Given the description of an element on the screen output the (x, y) to click on. 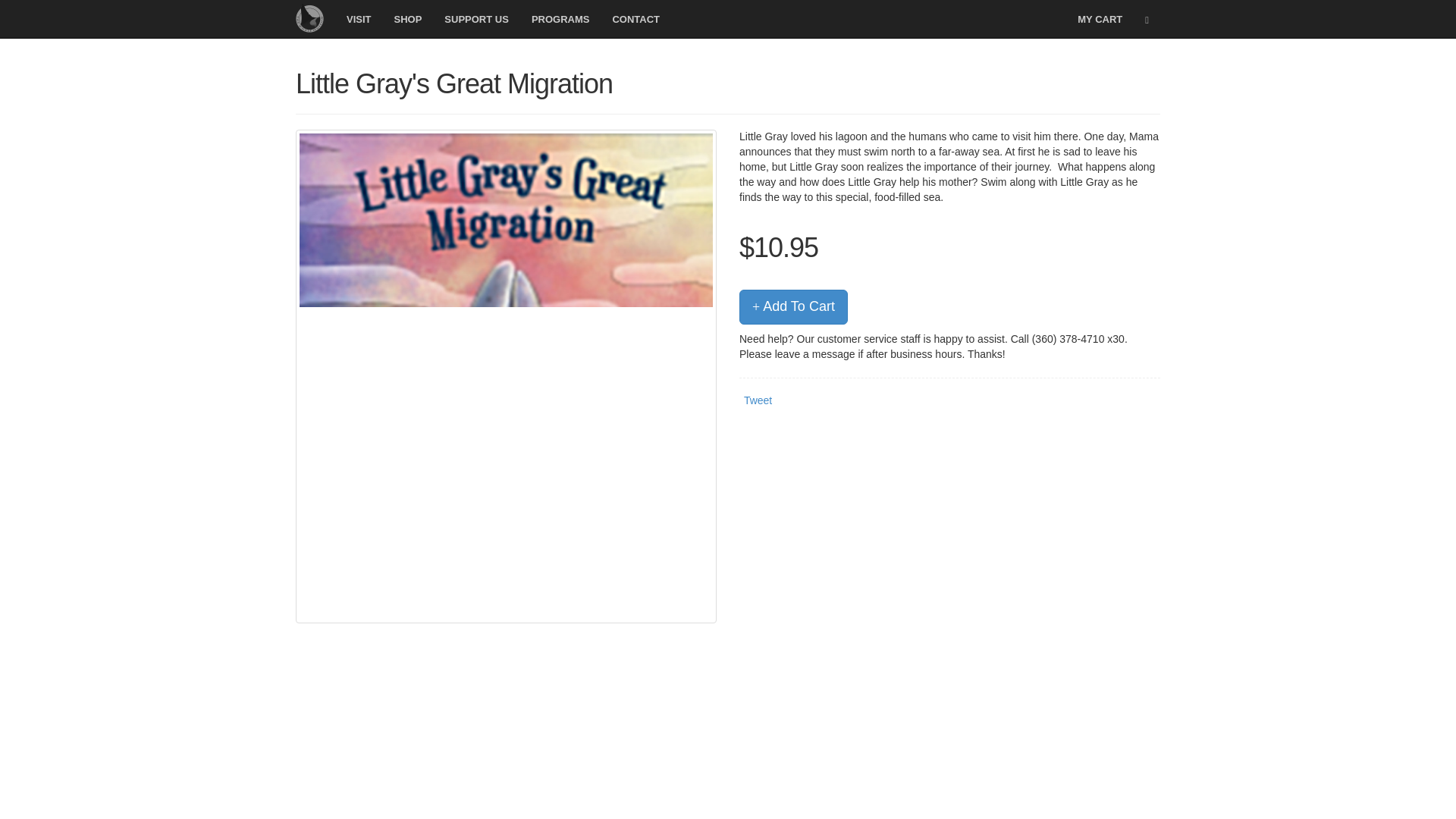
PROGRAMS (560, 18)
SUPPORT US (475, 18)
SHOP (407, 18)
VISIT (358, 18)
